Given the description of an element on the screen output the (x, y) to click on. 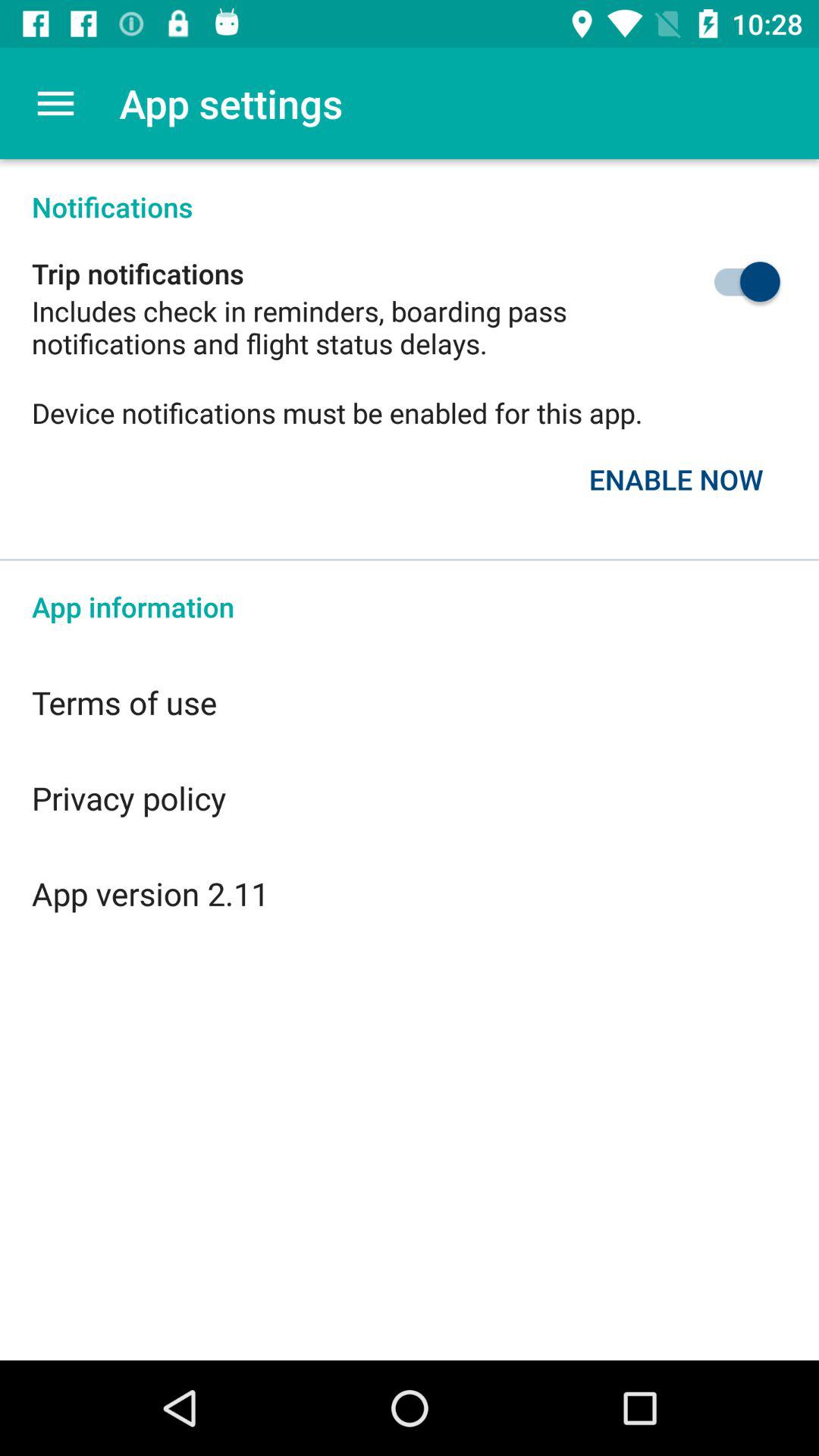
turn on the icon below the notifications item (711, 281)
